Given the description of an element on the screen output the (x, y) to click on. 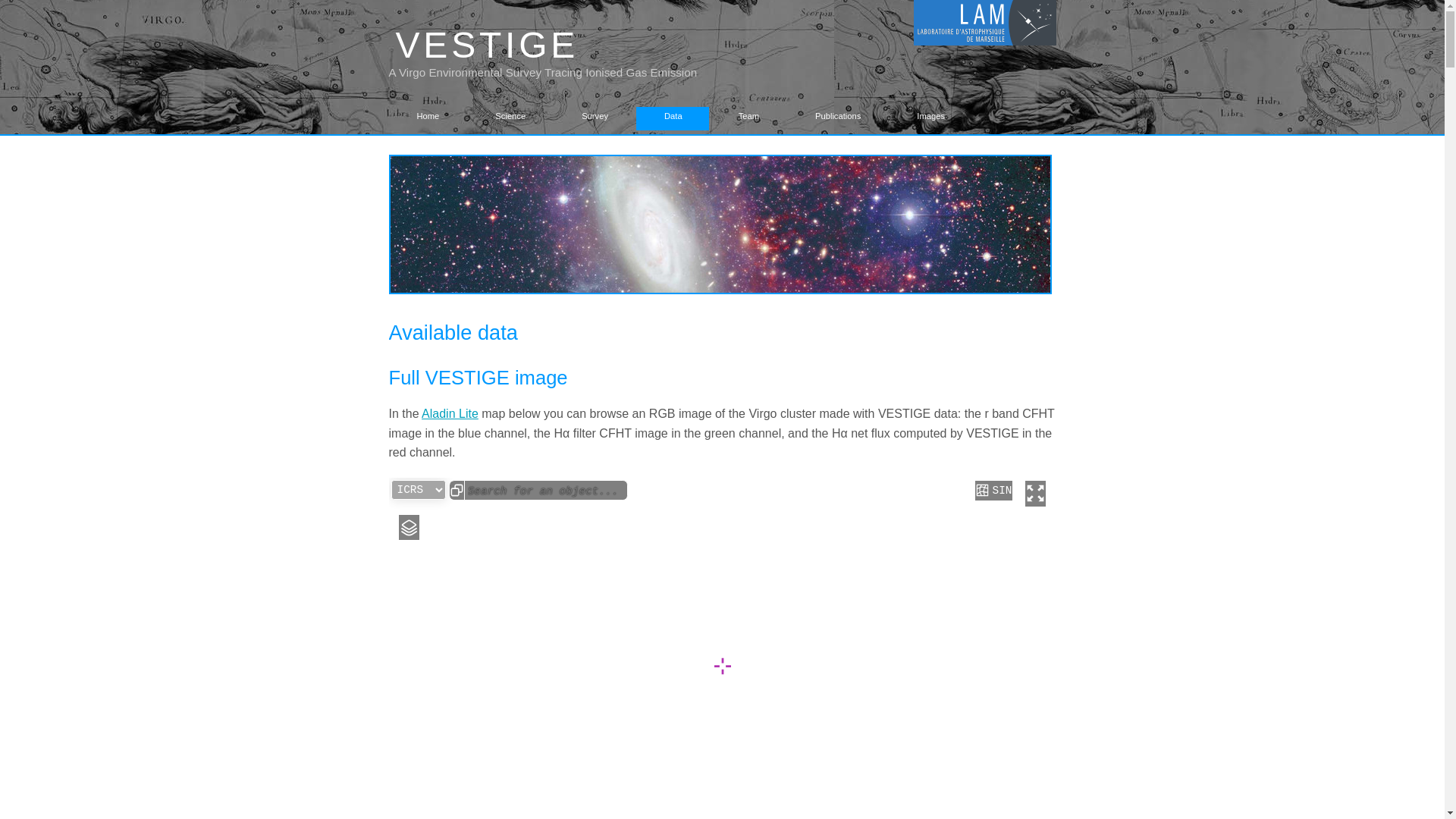
Powered by Aladin Lite (1018, 816)
Home (430, 118)
Team (751, 118)
Data (676, 118)
Survey (597, 118)
SIN (993, 490)
Aladin Lite (450, 413)
Internal (433, 142)
Science (512, 118)
Images (933, 118)
Publications (839, 118)
